Given the description of an element on the screen output the (x, y) to click on. 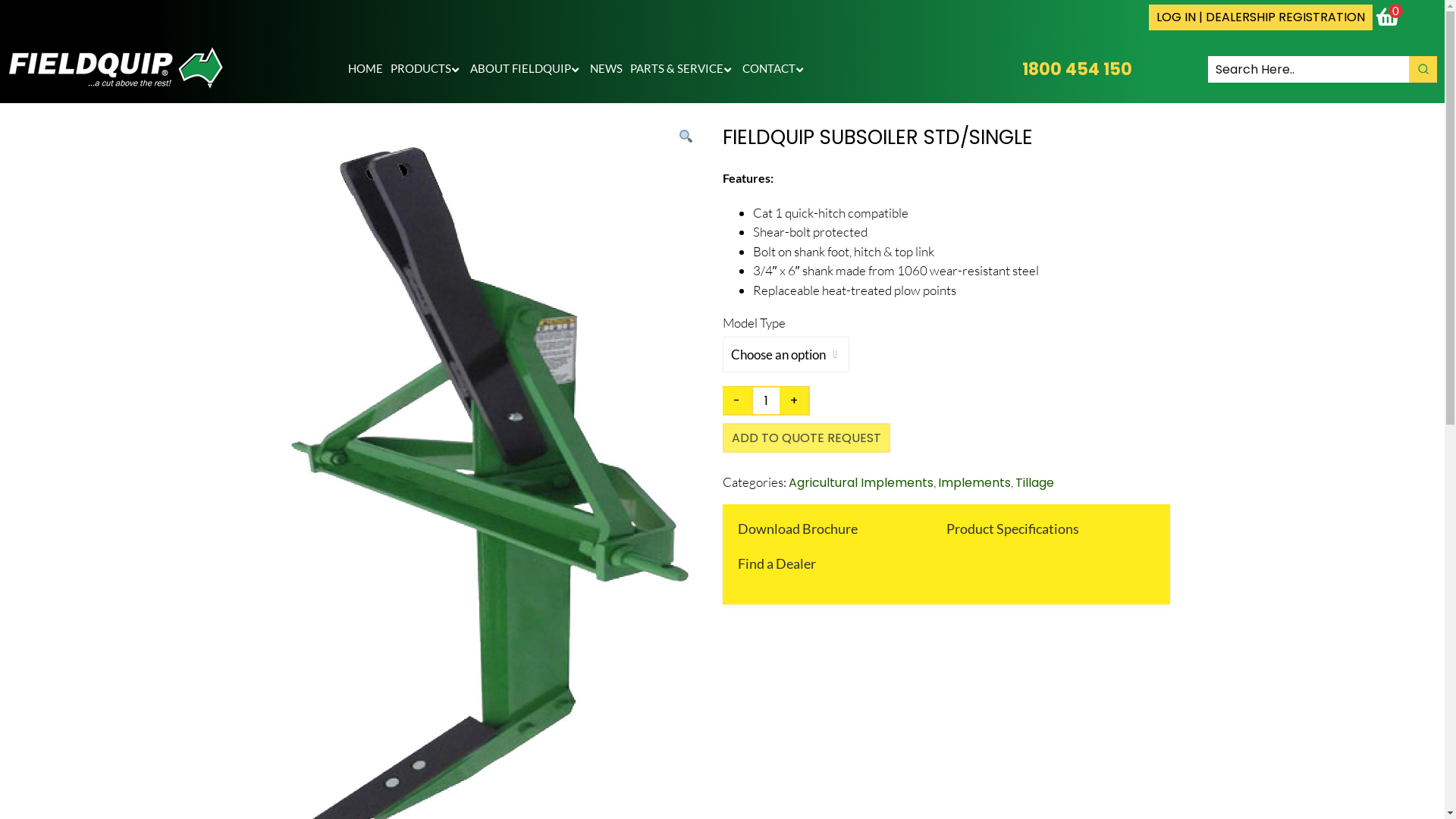
LOG IN | DEALERSHIP REGISTRATION Element type: text (1260, 17)
Product Specifications Element type: text (1012, 528)
PARTS & SERVICE Element type: text (682, 68)
Tillage Element type: text (1033, 482)
ADD TO QUOTE REQUEST Element type: text (805, 437)
NEWS Element type: text (606, 68)
- Element type: text (736, 400)
+ Element type: text (794, 400)
Agricultural Implements Element type: text (860, 482)
0 Element type: text (1389, 17)
HOME Element type: text (365, 68)
Find a Dealer Element type: text (776, 563)
PRODUCTS Element type: text (426, 68)
Qty Element type: hover (765, 400)
1800 454 150 Element type: text (1077, 69)
Implements Element type: text (973, 482)
ABOUT FIELDQUIP Element type: text (526, 68)
Download Brochure Element type: text (796, 528)
